Given the description of an element on the screen output the (x, y) to click on. 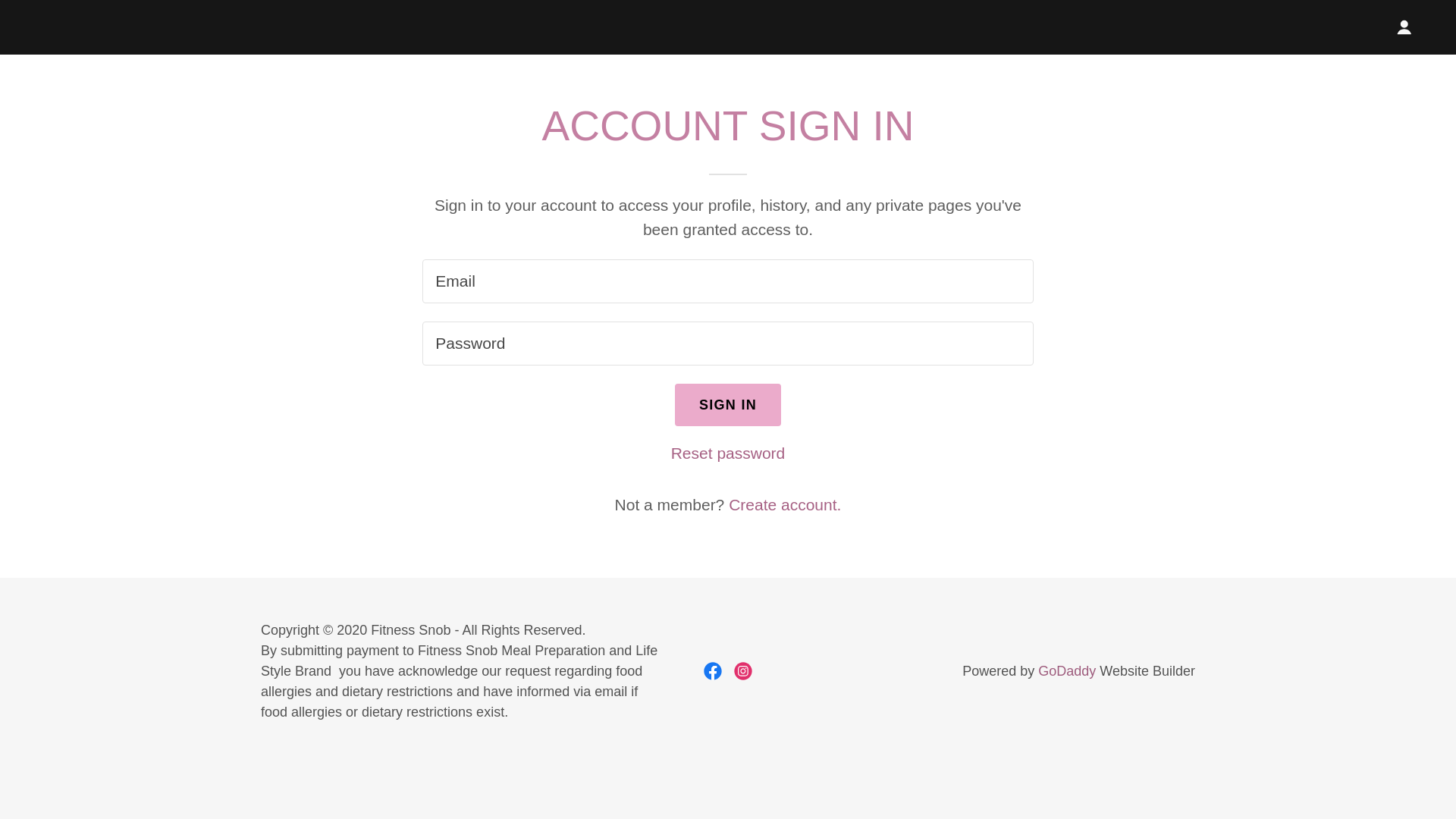
GoDaddy (1067, 670)
Create account. (785, 504)
Reset password (728, 452)
SIGN IN (727, 404)
